Given the description of an element on the screen output the (x, y) to click on. 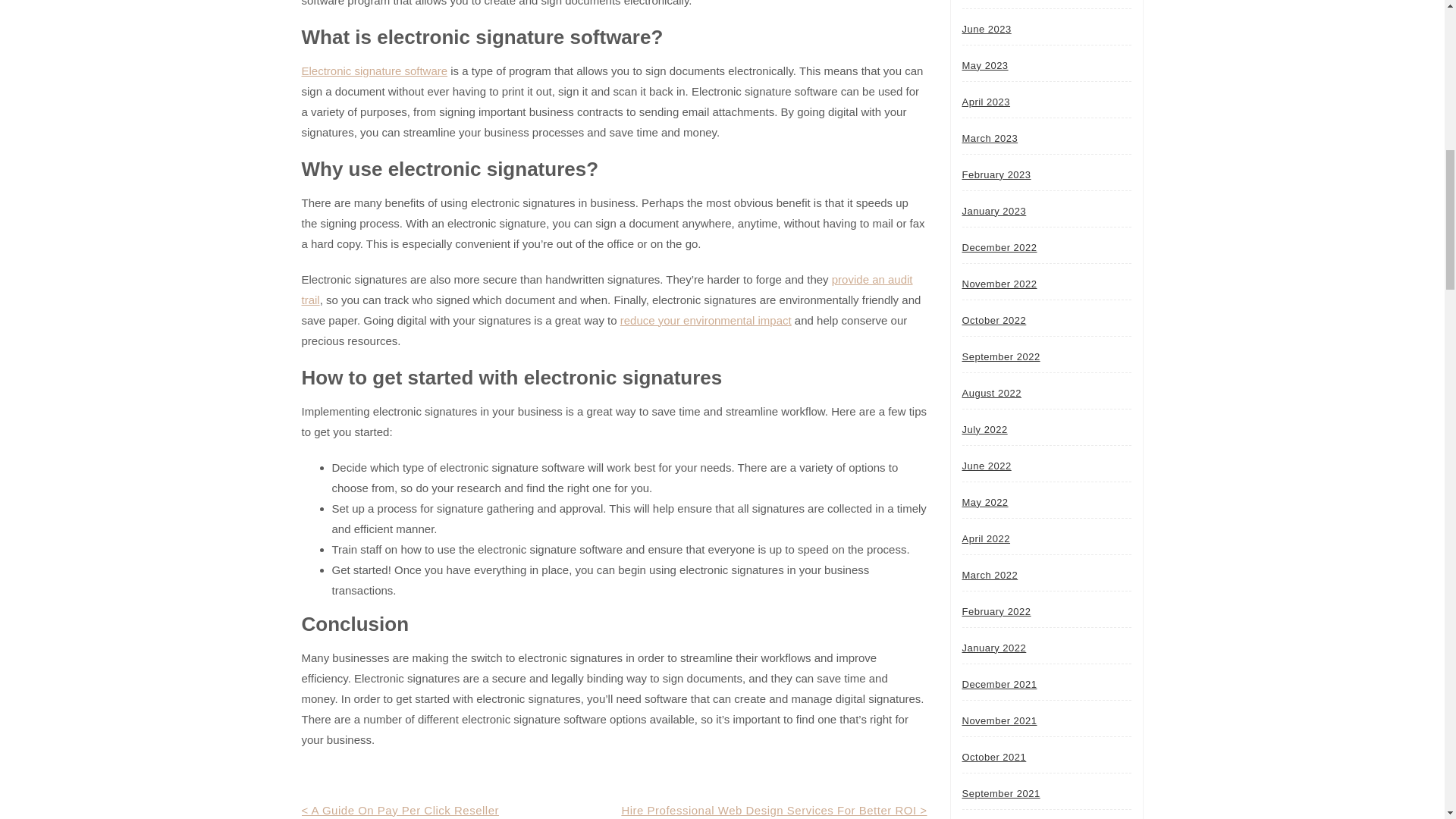
May 2023 (983, 64)
June 2023 (985, 28)
provide an audit trail (606, 289)
July 2023 (983, 3)
Electronic signature software (374, 69)
reduce your environmental impact (706, 319)
